Given the description of an element on the screen output the (x, y) to click on. 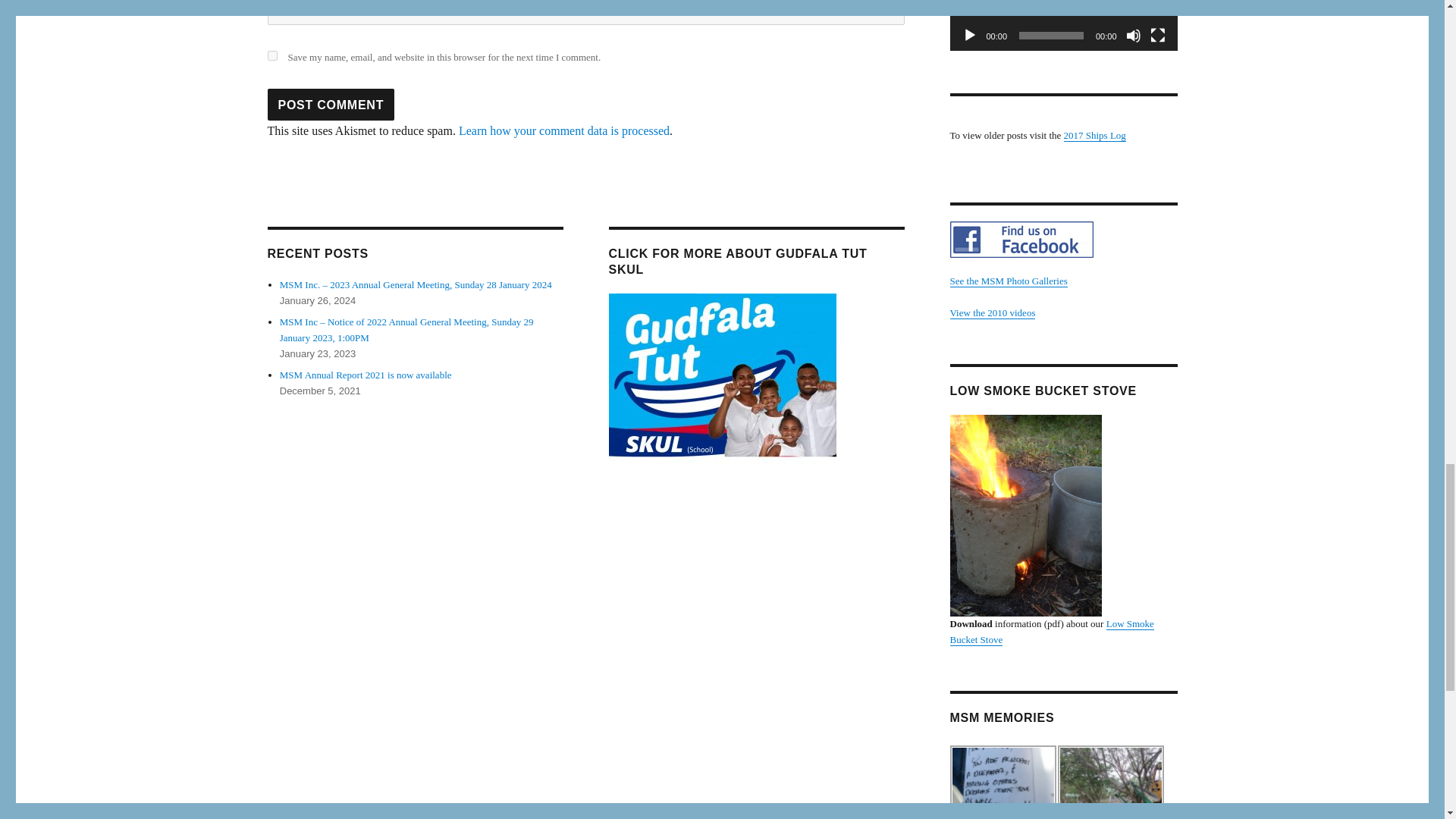
Play (968, 35)
Fullscreen (1157, 35)
Post Comment (330, 104)
Mute (1132, 35)
2017 TC Pam (1110, 782)
yes (271, 55)
